Given the description of an element on the screen output the (x, y) to click on. 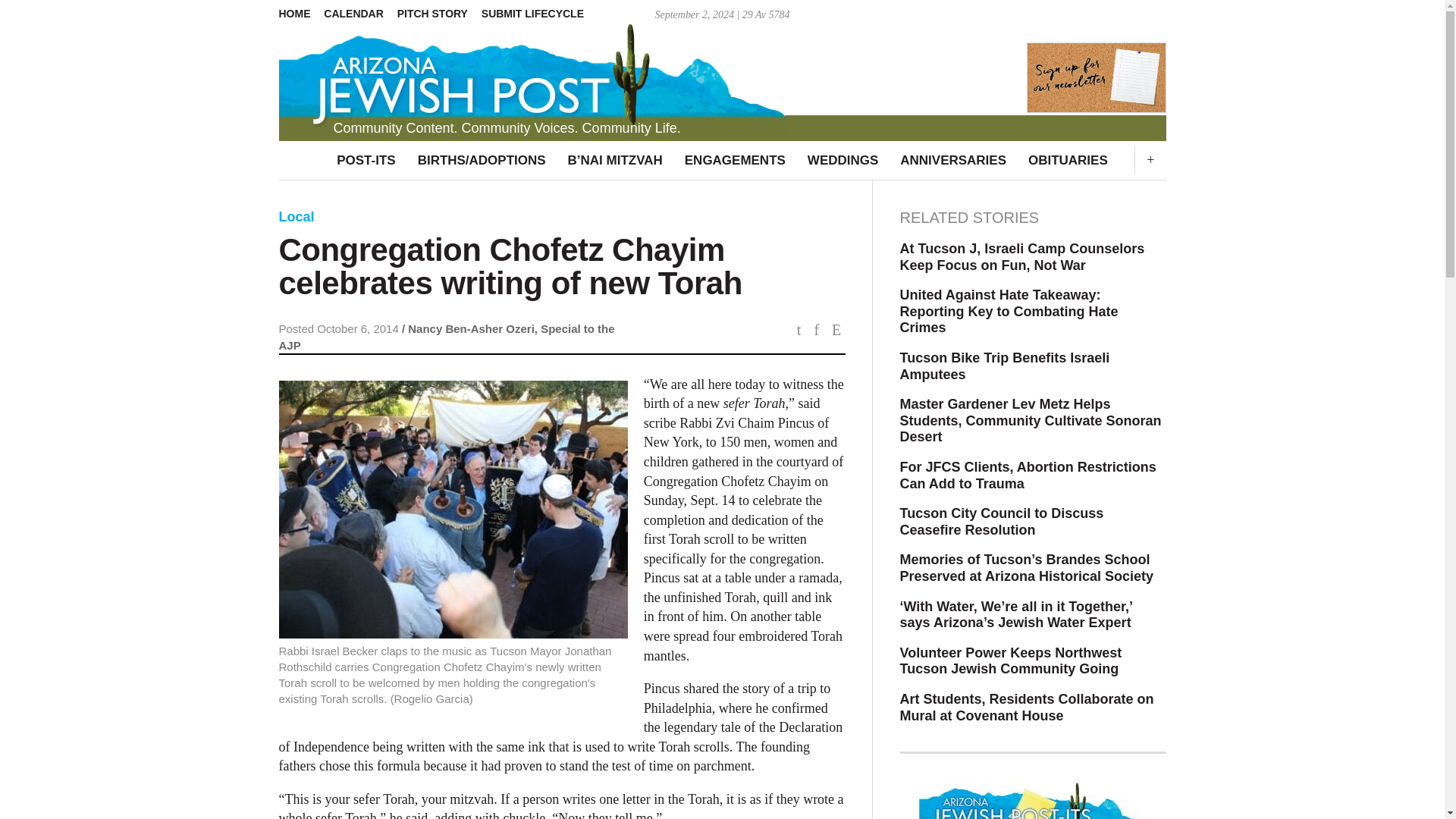
ENGAGEMENTS (734, 160)
For JFCS Clients, Abortion Restrictions Can Add to Trauma (1032, 475)
OBITUARIES (1067, 160)
POST-ITS (365, 160)
ANNIVERSARIES (952, 160)
PITCH STORY (438, 14)
